Given the description of an element on the screen output the (x, y) to click on. 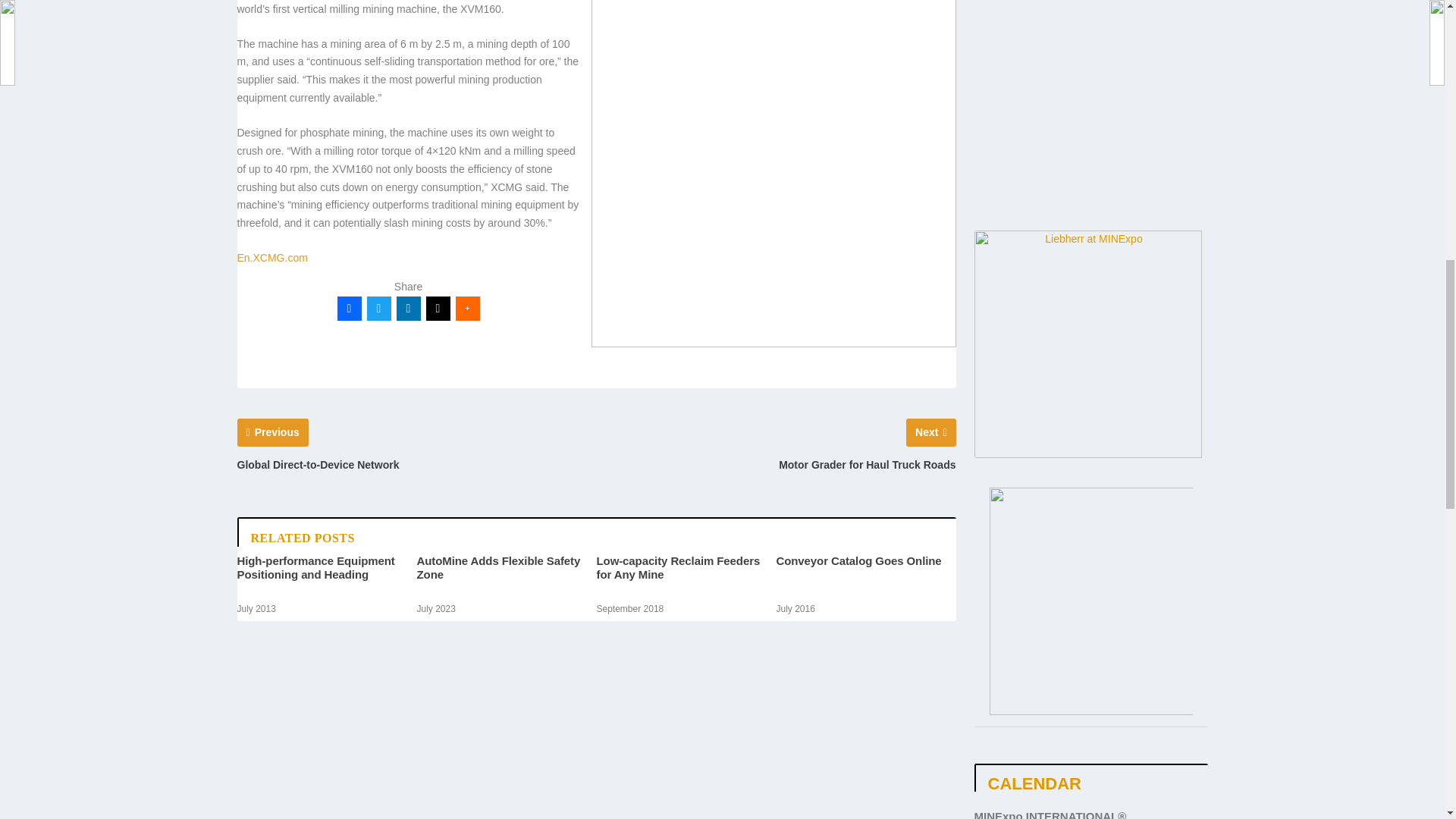
Email this  (437, 308)
Share this on Facebook (348, 308)
Add this to LinkedIn (408, 308)
More share links (466, 308)
YouTube video player (1090, 143)
YouTube video player (1090, 29)
Tweet this ! (378, 308)
